Given the description of an element on the screen output the (x, y) to click on. 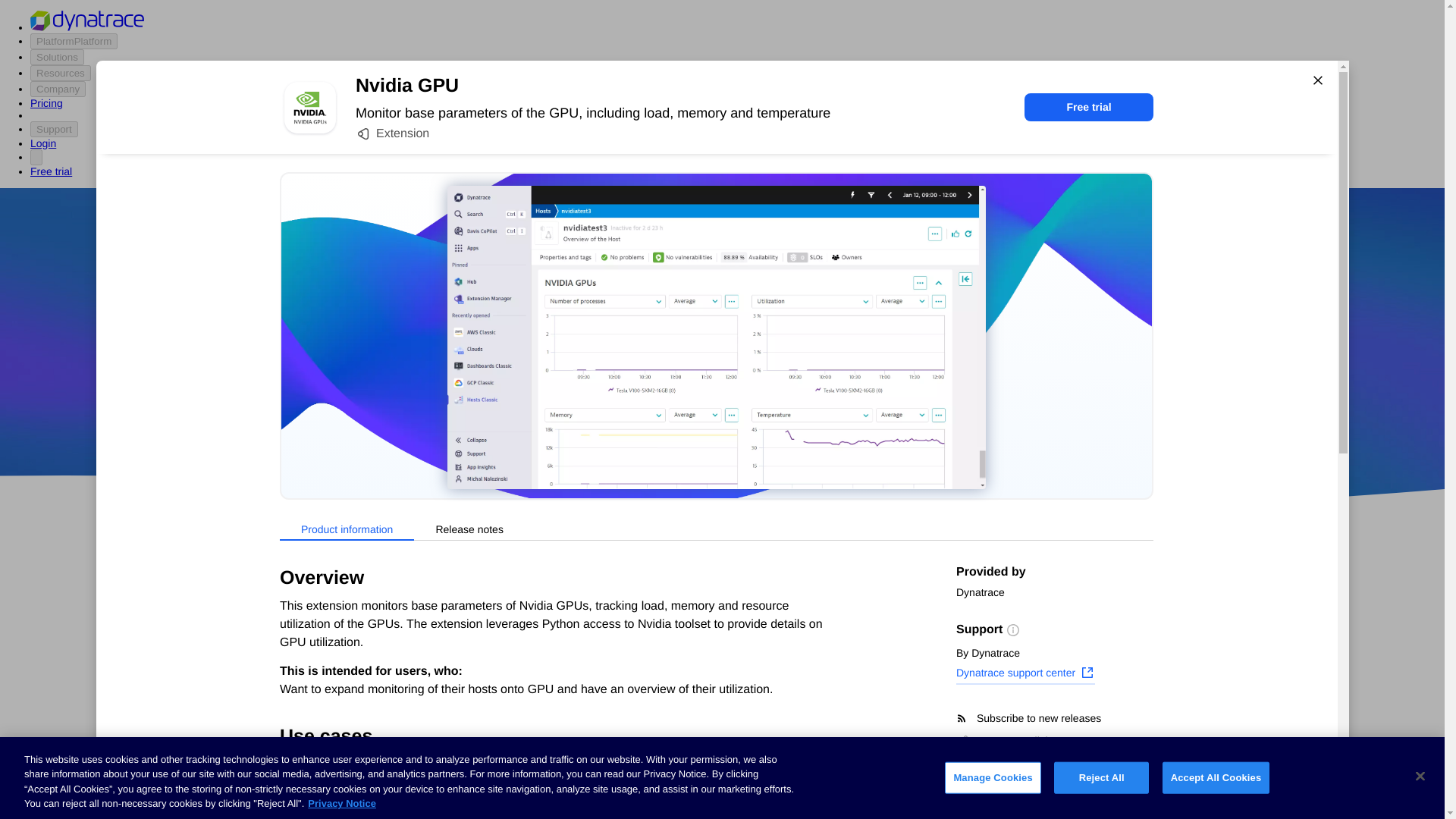
Get data into Dynatrace (325, 641)
Build your own app (314, 669)
 Envoy Istio Kubernetes Service Mesh (841, 778)
Wipro (840, 375)
Subscribe to new releases (1054, 718)
Google Cloud (751, 418)
Free trial (1089, 107)
 artificial-intelligence machine-learning (607, 778)
Wipro (840, 375)
Infrastructure Observability (335, 809)
Certified Partners (309, 612)
Log Management and Analytics (345, 727)
AWS (637, 418)
Kubernetes (295, 755)
WIPRO Holmes (606, 723)
